Given the description of an element on the screen output the (x, y) to click on. 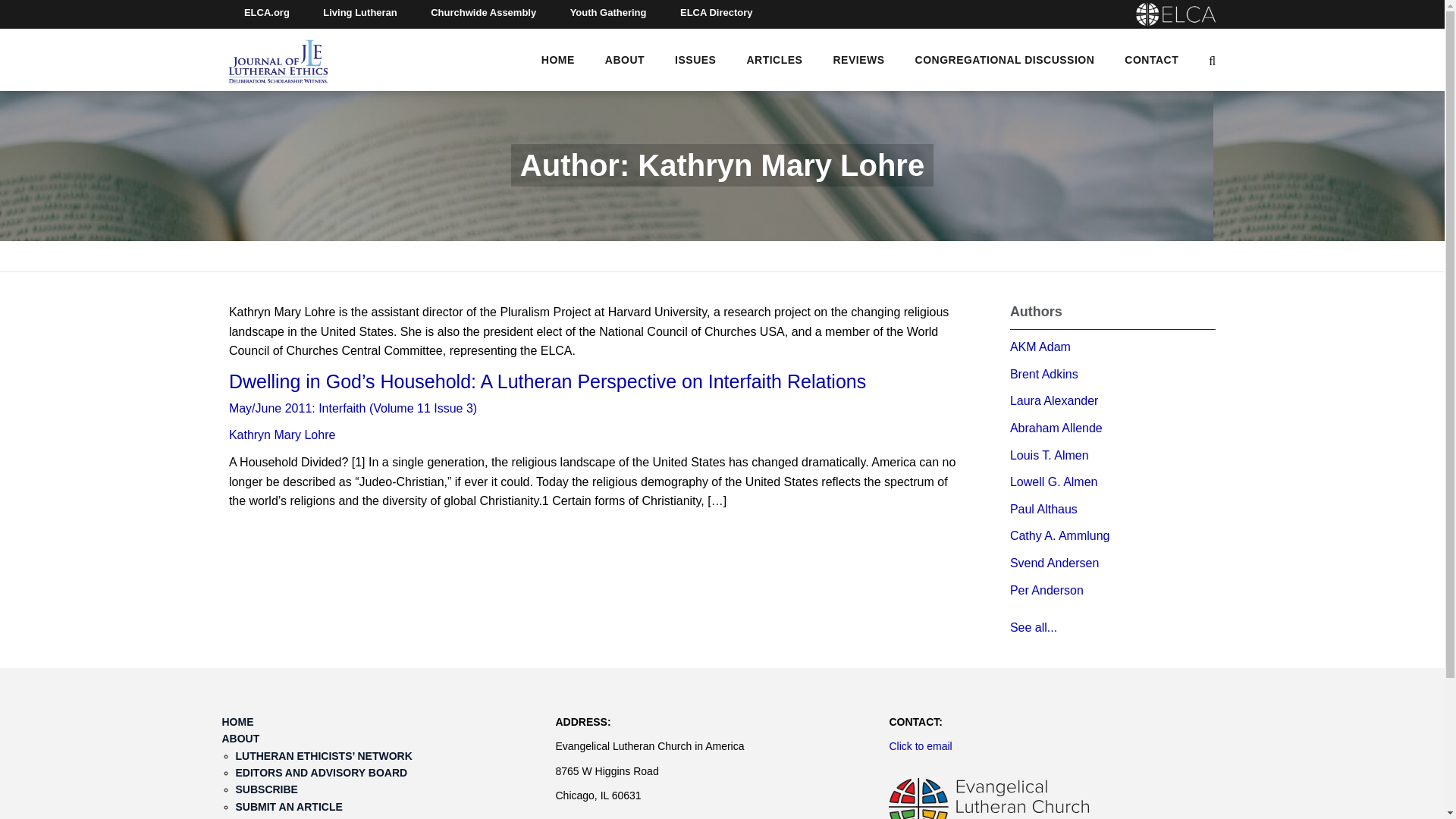
ELCA Directory (716, 14)
CONTACT (1150, 59)
ARTICLES (773, 59)
Youth Gathering (608, 14)
Living Lutheran (359, 14)
ISSUES (695, 59)
CONGREGATIONAL DISCUSSION (1004, 59)
ABOUT (625, 59)
ELCA.org (266, 14)
Churchwide Assembly (482, 14)
